Given the description of an element on the screen output the (x, y) to click on. 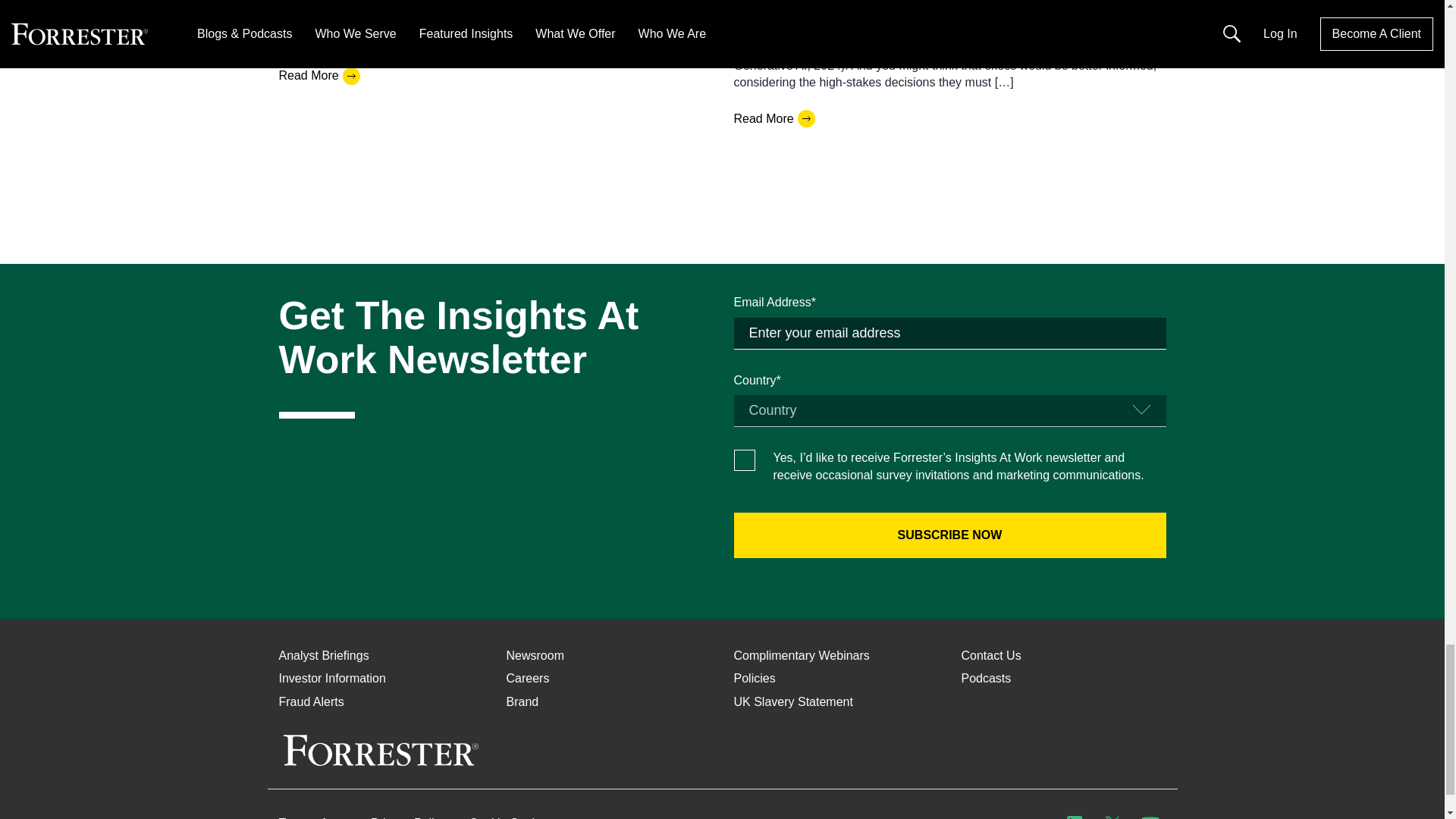
Subscribe Now (949, 534)
